Given the description of an element on the screen output the (x, y) to click on. 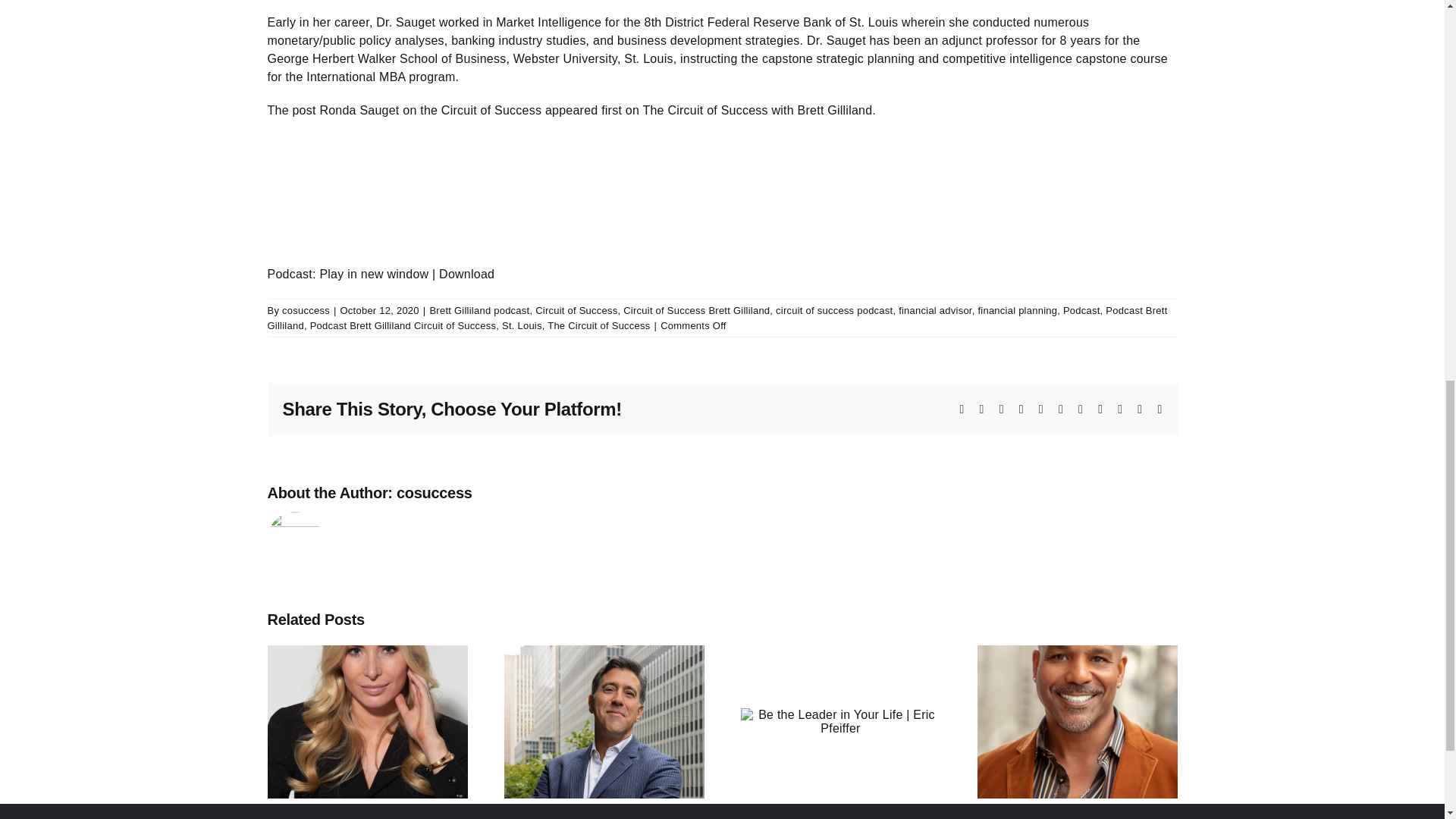
Play in new window (373, 273)
St. Louis (521, 325)
The Circuit of Success (598, 325)
cosuccess (306, 310)
Podcast (1081, 310)
Circuit of Success (576, 310)
circuit of success podcast (834, 310)
Play in new window (373, 273)
Circuit of Success Brett Gilliland (696, 310)
financial planning (1016, 310)
Download (467, 273)
Podcast Brett Gilliland (716, 317)
Posts by cosuccess (306, 310)
Posts by cosuccess (433, 492)
Brett Gilliland podcast (479, 310)
